Given the description of an element on the screen output the (x, y) to click on. 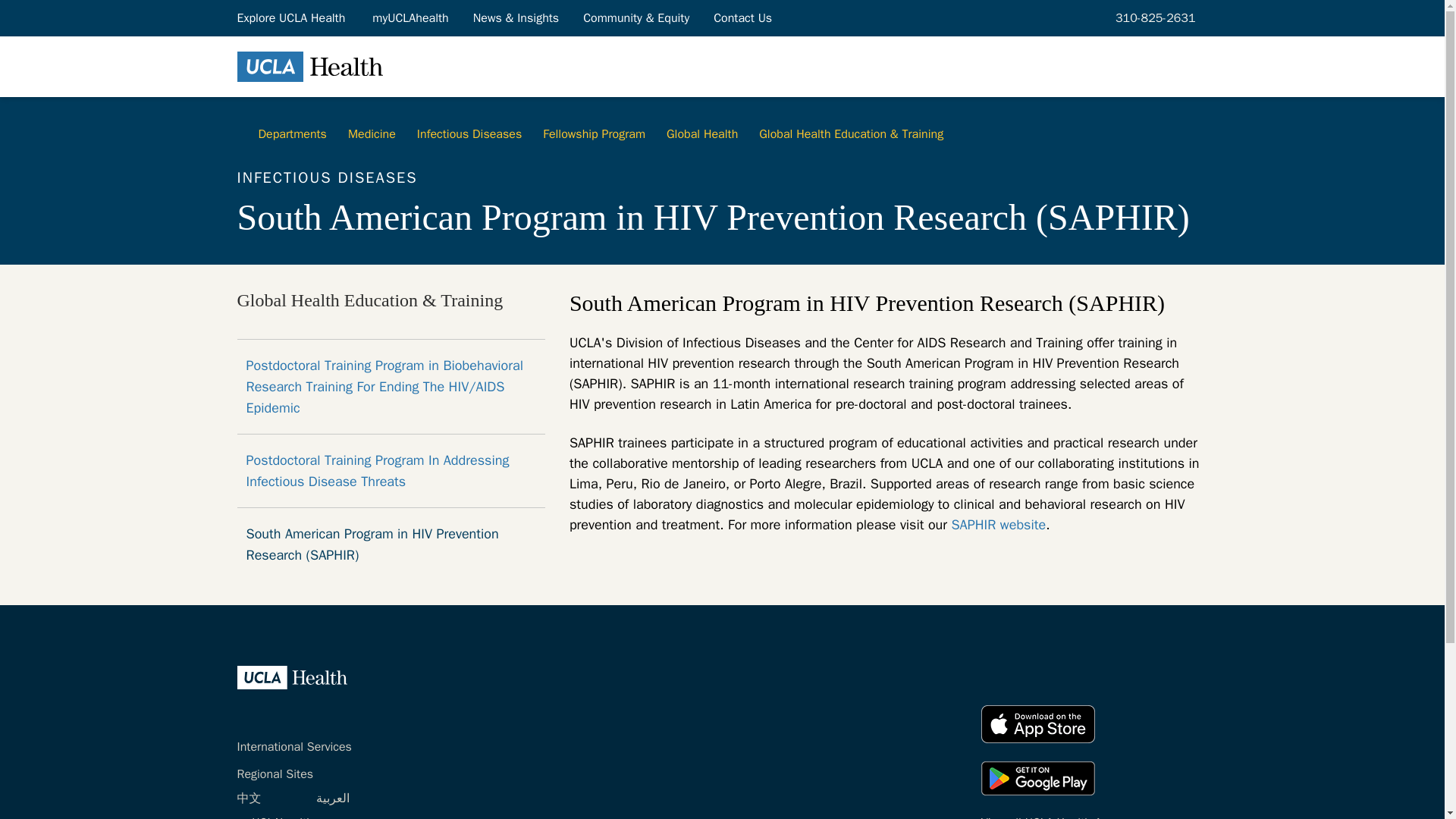
myUCLAhealth (409, 17)
Explore UCLA Health (291, 17)
Contact Us (742, 17)
310-825-2631 (1152, 17)
myUCLAhealth Login. (274, 816)
myUCLAhealth Login. (409, 17)
open SAPHIR website (997, 524)
